Given the description of an element on the screen output the (x, y) to click on. 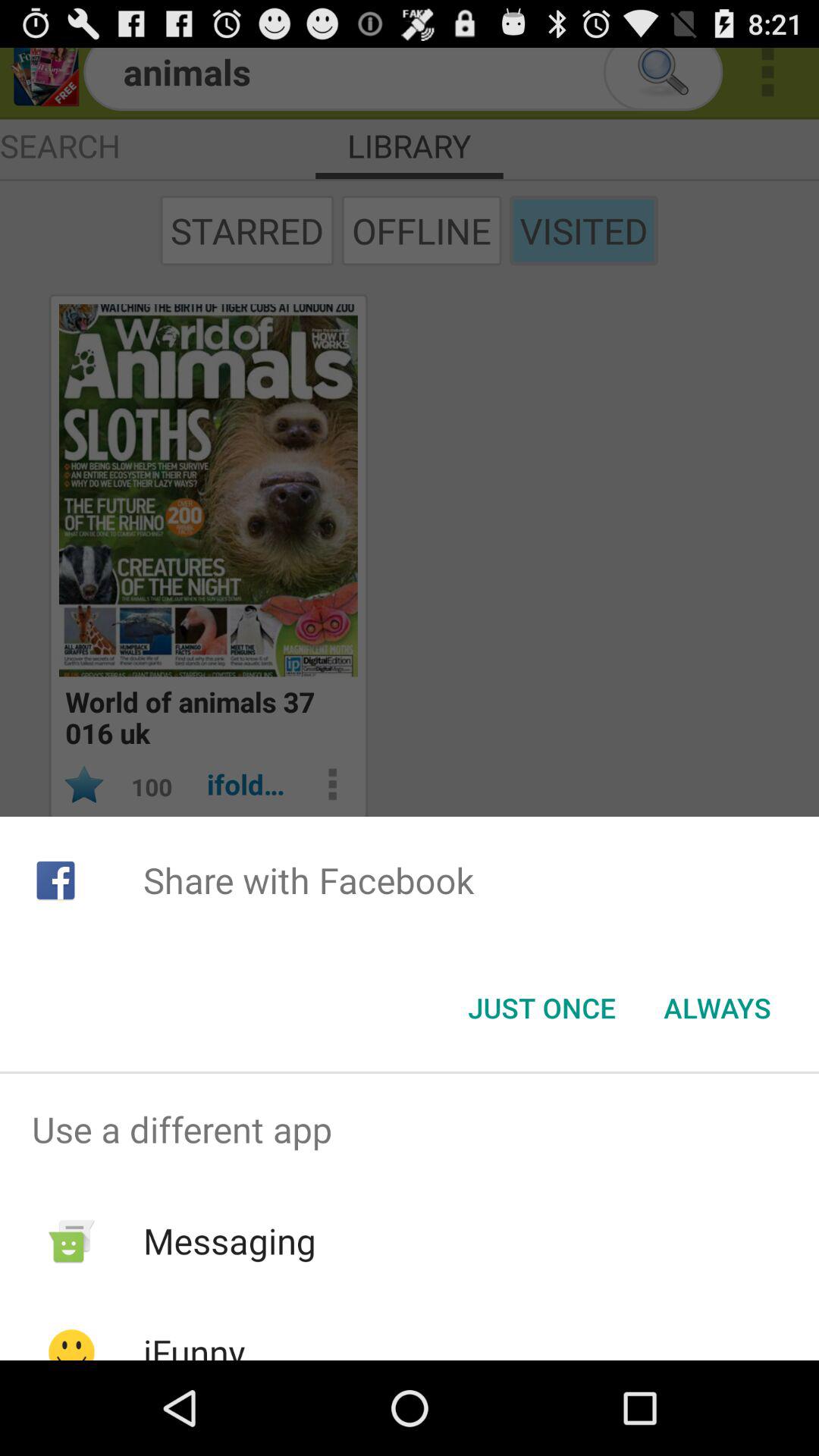
turn on the use a different app (409, 1129)
